Given the description of an element on the screen output the (x, y) to click on. 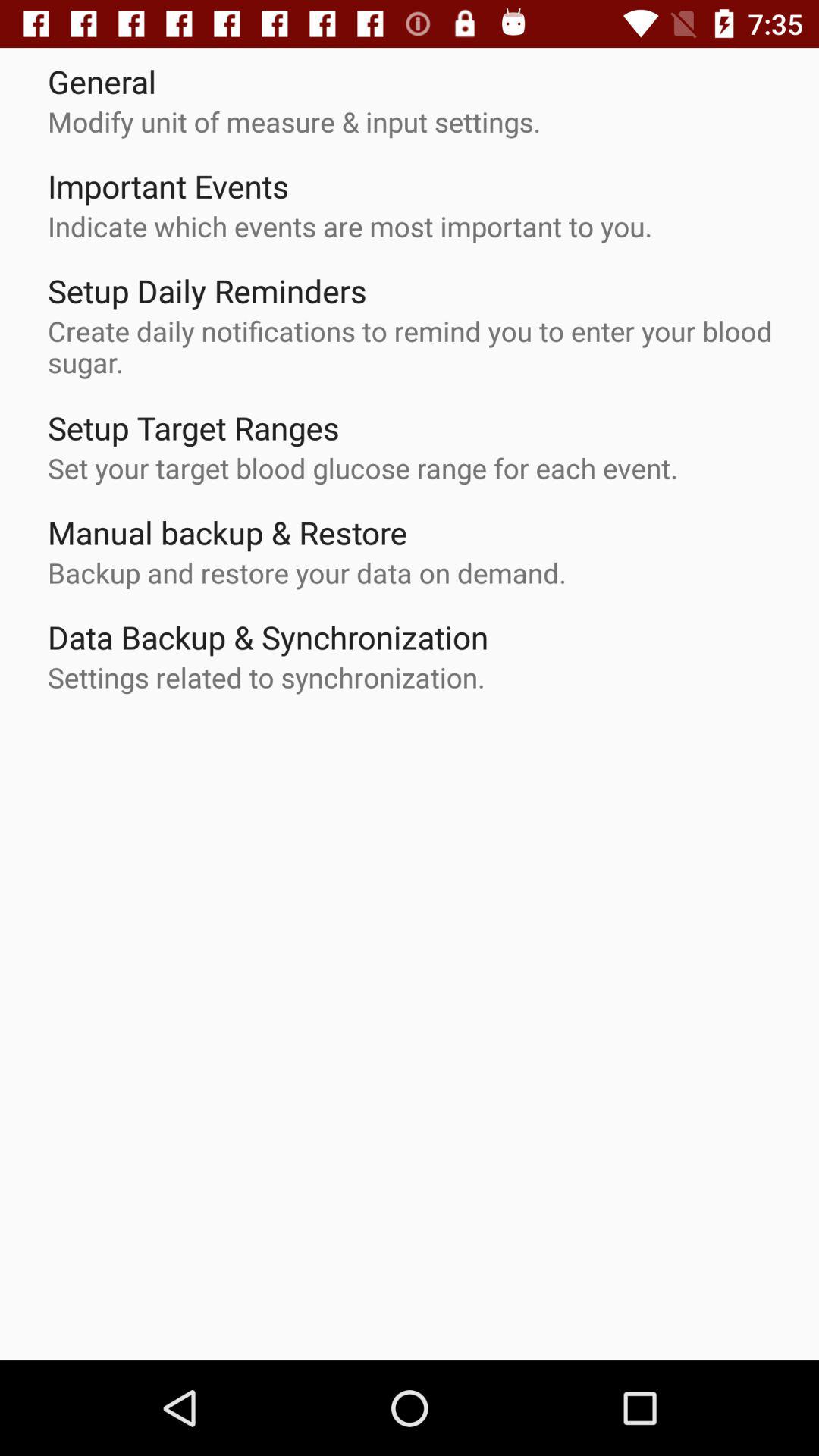
select the item above the create daily notifications icon (206, 290)
